Given the description of an element on the screen output the (x, y) to click on. 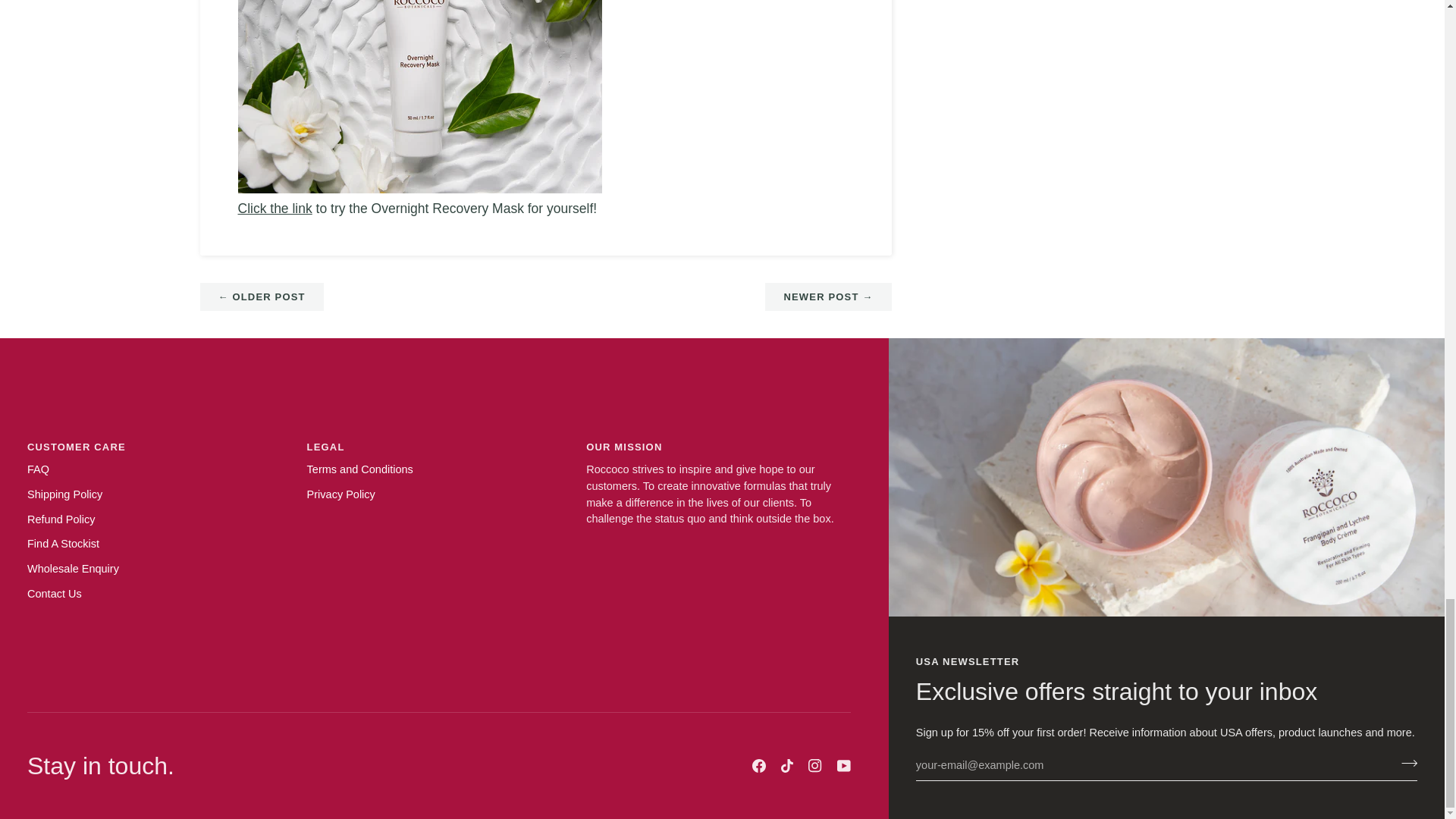
Facebook (758, 766)
YouTube (843, 766)
Instagram (815, 766)
